Given the description of an element on the screen output the (x, y) to click on. 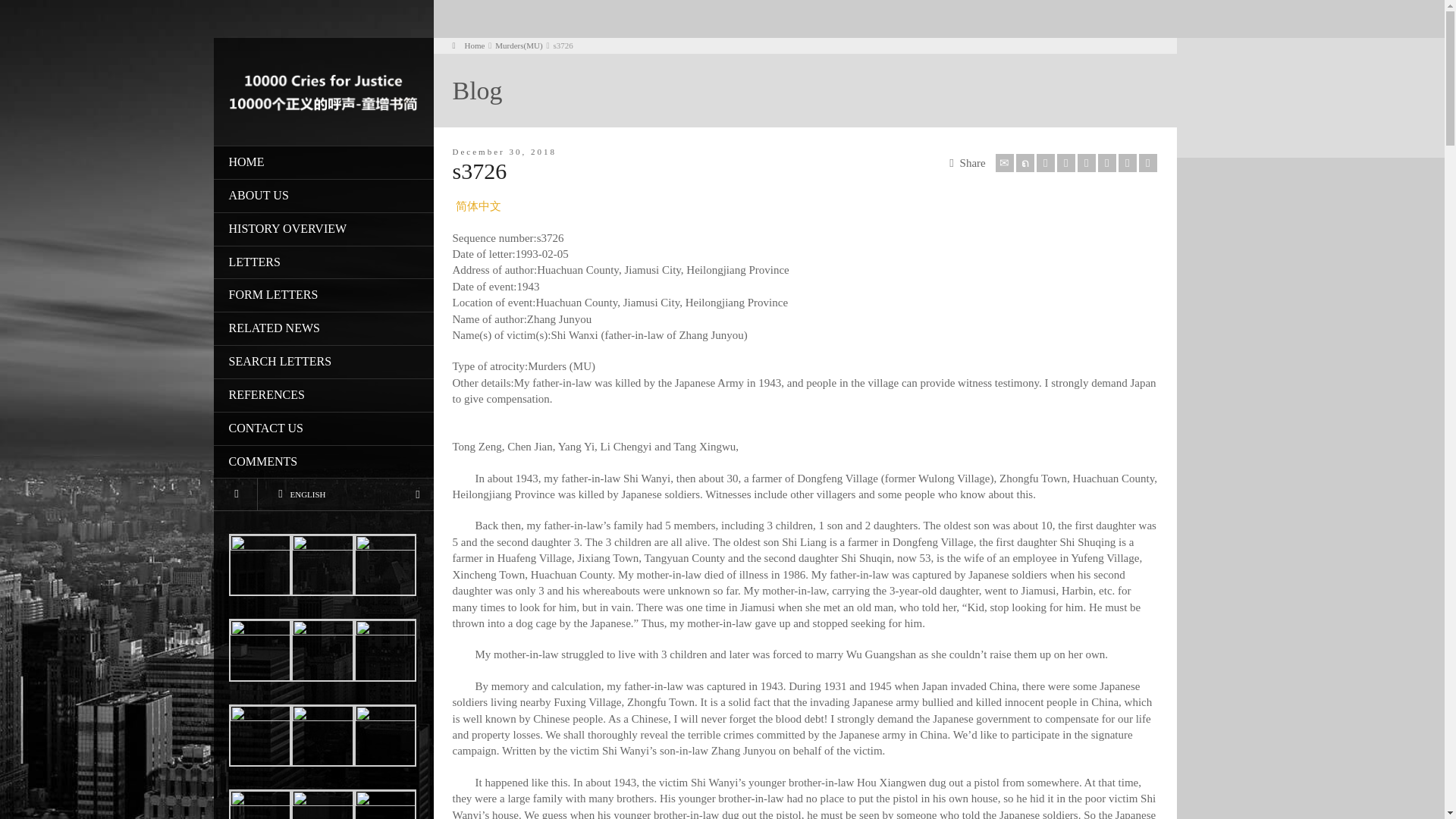
HOME (323, 162)
LETTERS (323, 263)
Linkedin (1127, 162)
Facebook (1045, 162)
Tumblr (1106, 162)
HISTORY OVERVIEW (323, 229)
FORM LETTERS (323, 295)
CONTACT US (323, 428)
Pinterest (1086, 162)
Twitter (1024, 162)
COMMENTS (323, 462)
ABOUT US (323, 195)
REFERENCES (323, 395)
SEARCH LETTERS (323, 362)
Languages (345, 493)
